Given the description of an element on the screen output the (x, y) to click on. 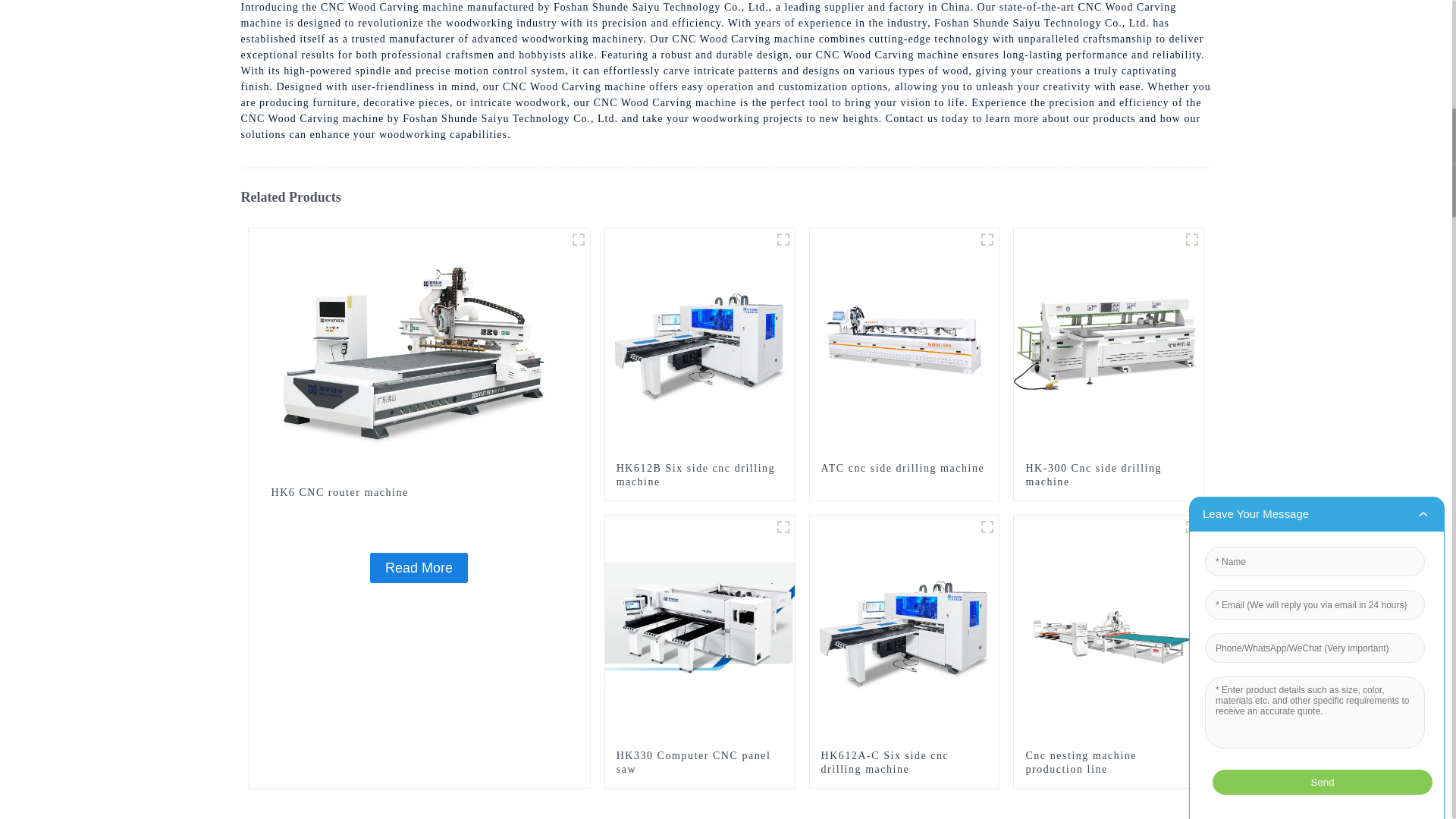
HK612A-C Six side cnc drilling machine (904, 762)
  HK330 Computer CNC panel saw (699, 629)
HK-300 Cnc side drilling machine (1108, 474)
HK612A-C Six side cnc drilling machine (903, 629)
 HK612B Six side cnc drilling machine (699, 341)
HK6 CNC router machine  (418, 567)
 HK612B Six side cnc drilling machine (699, 474)
HK6 CNC router machine  (418, 492)
Read More (418, 567)
6 six cnc drilling machine (986, 526)
HK-300 Cnc side drilling machine (1108, 474)
ATC cnc side drilling machine (904, 468)
  HK330 Computer CNC panel saw (699, 762)
HK6 CNC router machine (418, 492)
HK612B Six side cnc drilling machine (699, 474)
